Given the description of an element on the screen output the (x, y) to click on. 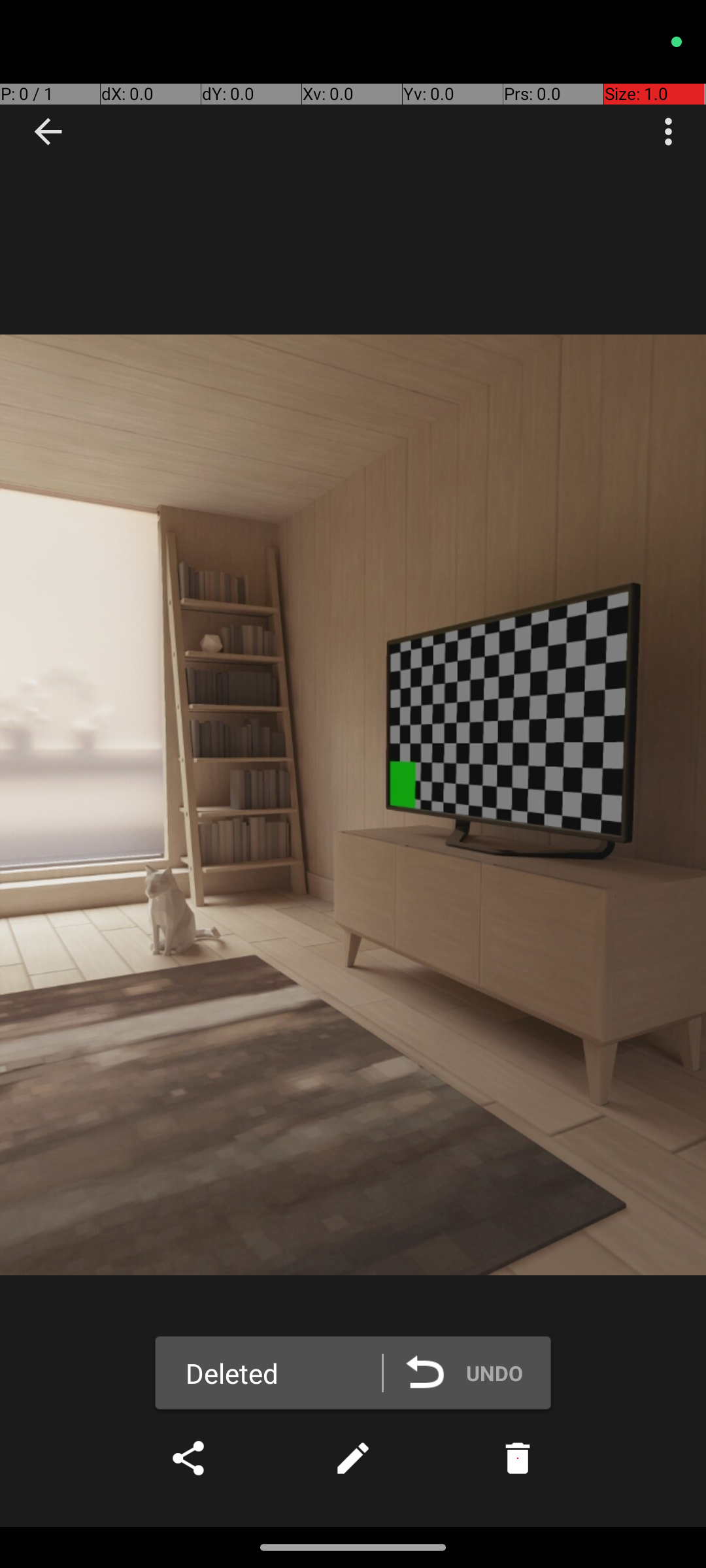
Photo taken on Oct 15, 2023 15:34:20 Element type: android.widget.ImageView (353, 804)
Deleted Element type: android.widget.TextView (231, 1372)
UNDO Element type: android.widget.TextView (473, 1372)
